Given the description of an element on the screen output the (x, y) to click on. 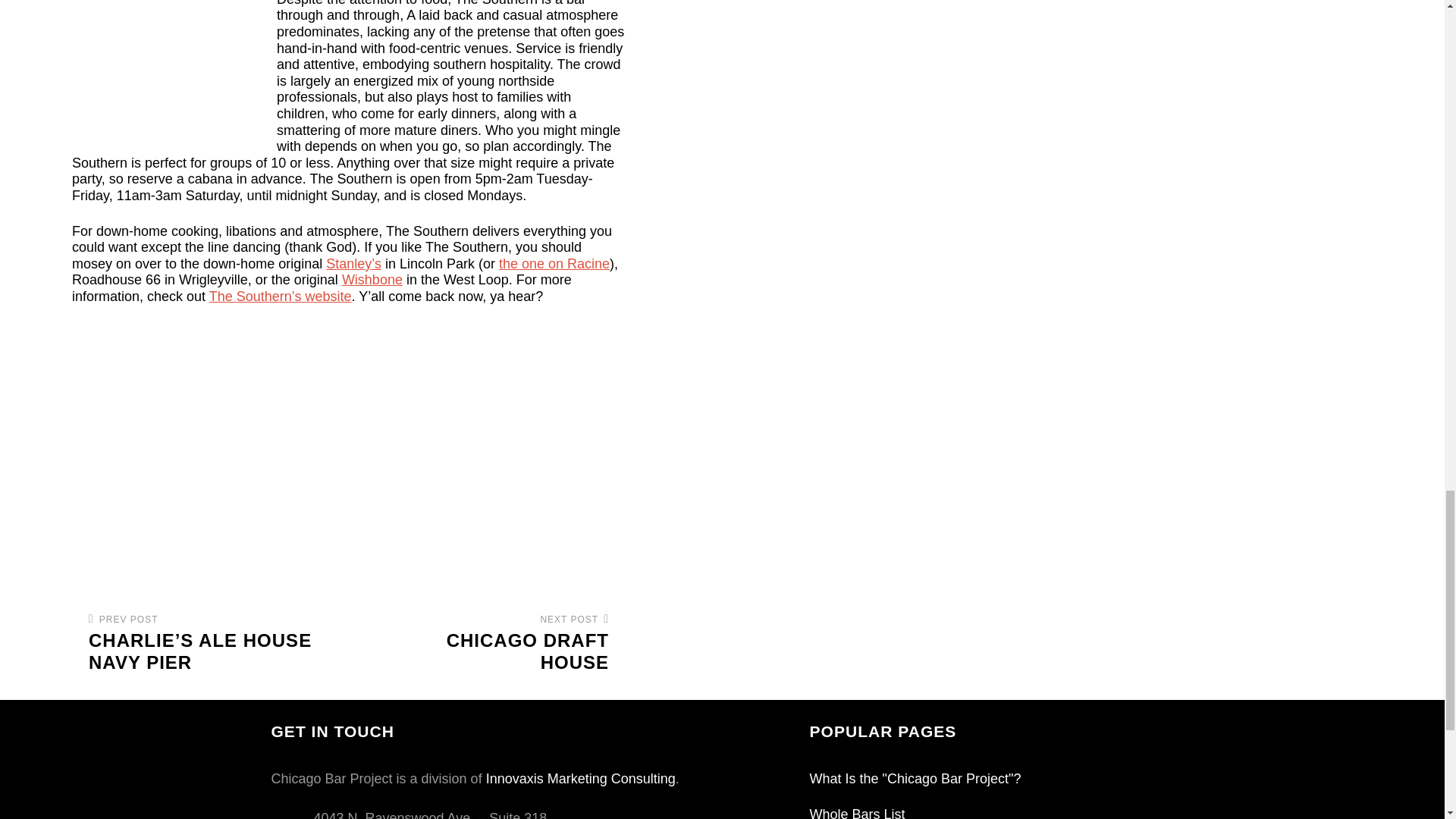
Wishbone (372, 279)
the one on Racine (554, 263)
